Given the description of an element on the screen output the (x, y) to click on. 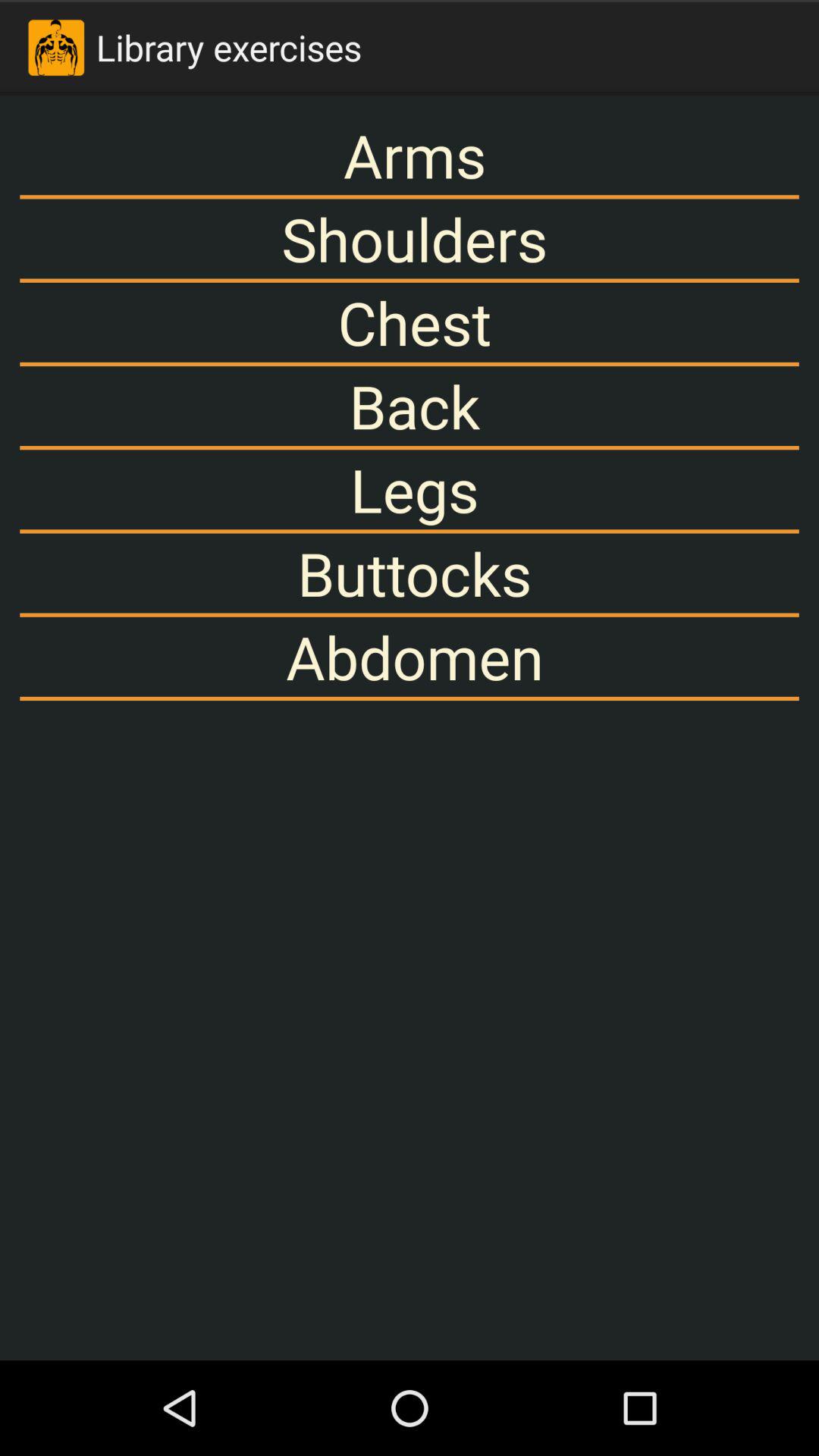
jump until the back icon (409, 405)
